Given the description of an element on the screen output the (x, y) to click on. 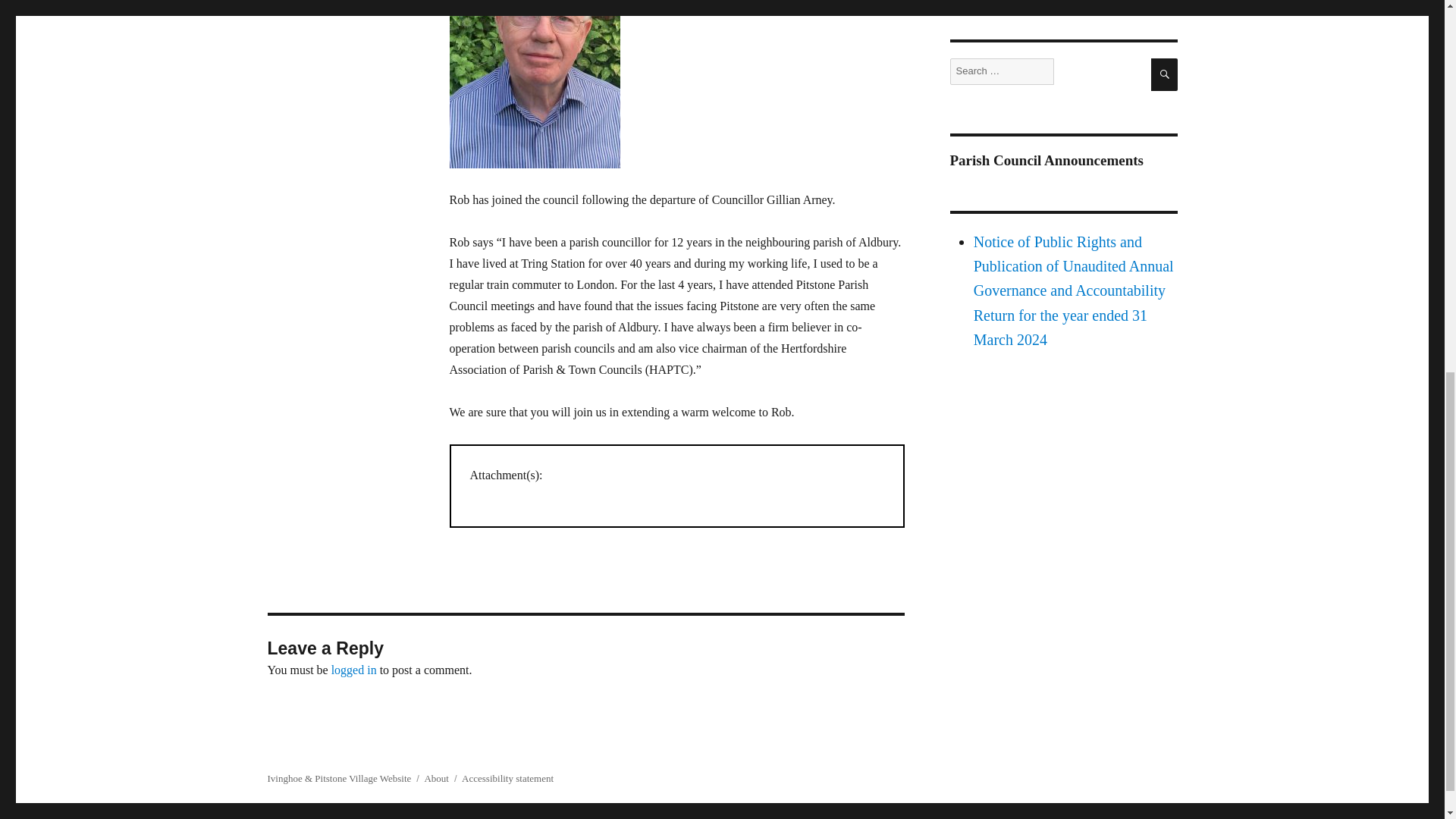
logged in (354, 669)
